Given the description of an element on the screen output the (x, y) to click on. 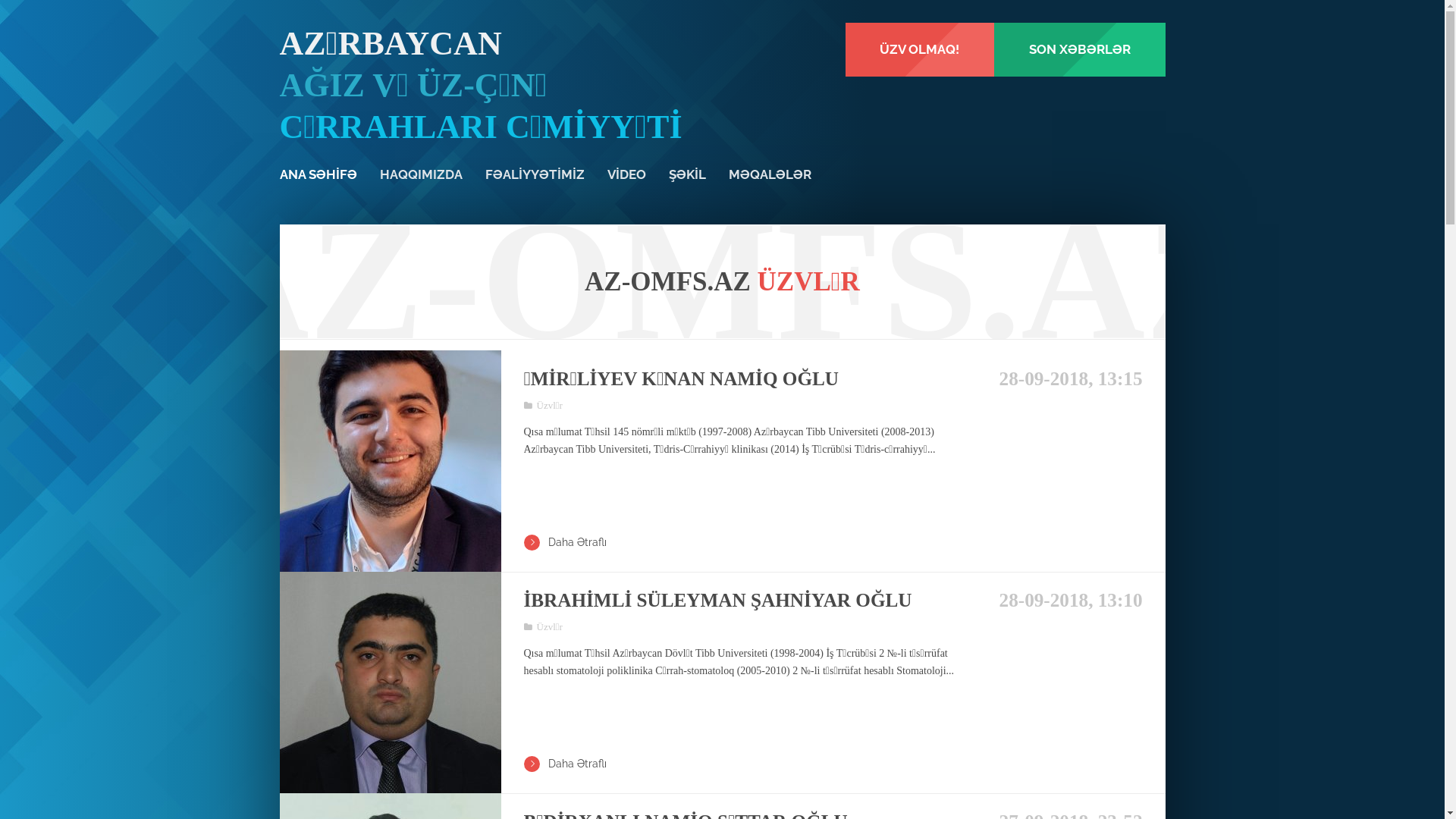
28-09-2018, 13:10 Element type: text (1065, 600)
28-09-2018, 13:15 Element type: text (1065, 379)
HAQQIMIZDA Element type: text (420, 174)
